Given the description of an element on the screen output the (x, y) to click on. 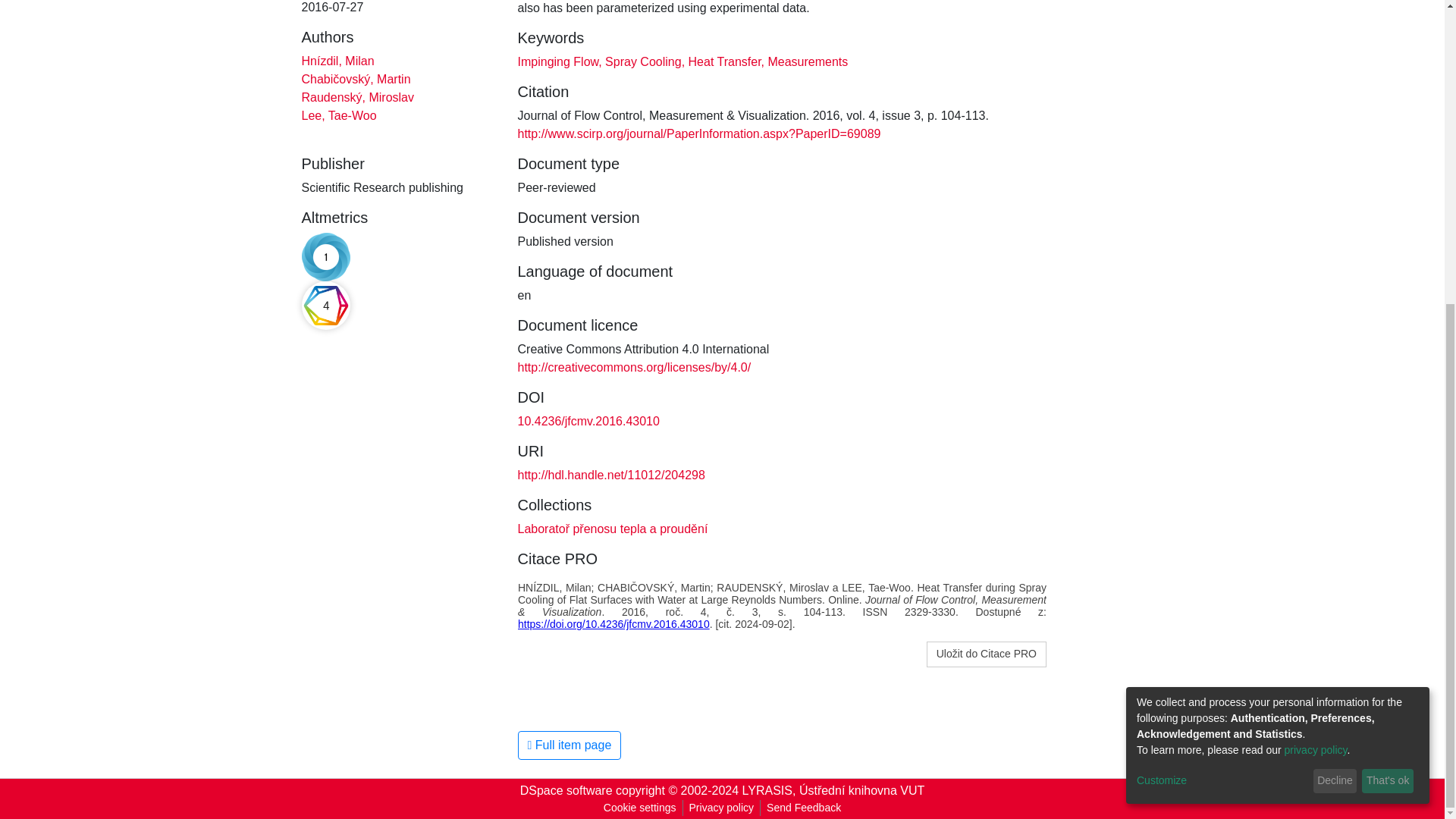
Privacy policy (721, 807)
Spray Cooling, (643, 61)
Measurements (805, 61)
DSpace software (565, 789)
Heat Transfer, (724, 61)
Full item page (568, 745)
4 (325, 305)
Send Feedback (803, 807)
Impinging Flow, (558, 61)
LYRASIS (767, 789)
